Given the description of an element on the screen output the (x, y) to click on. 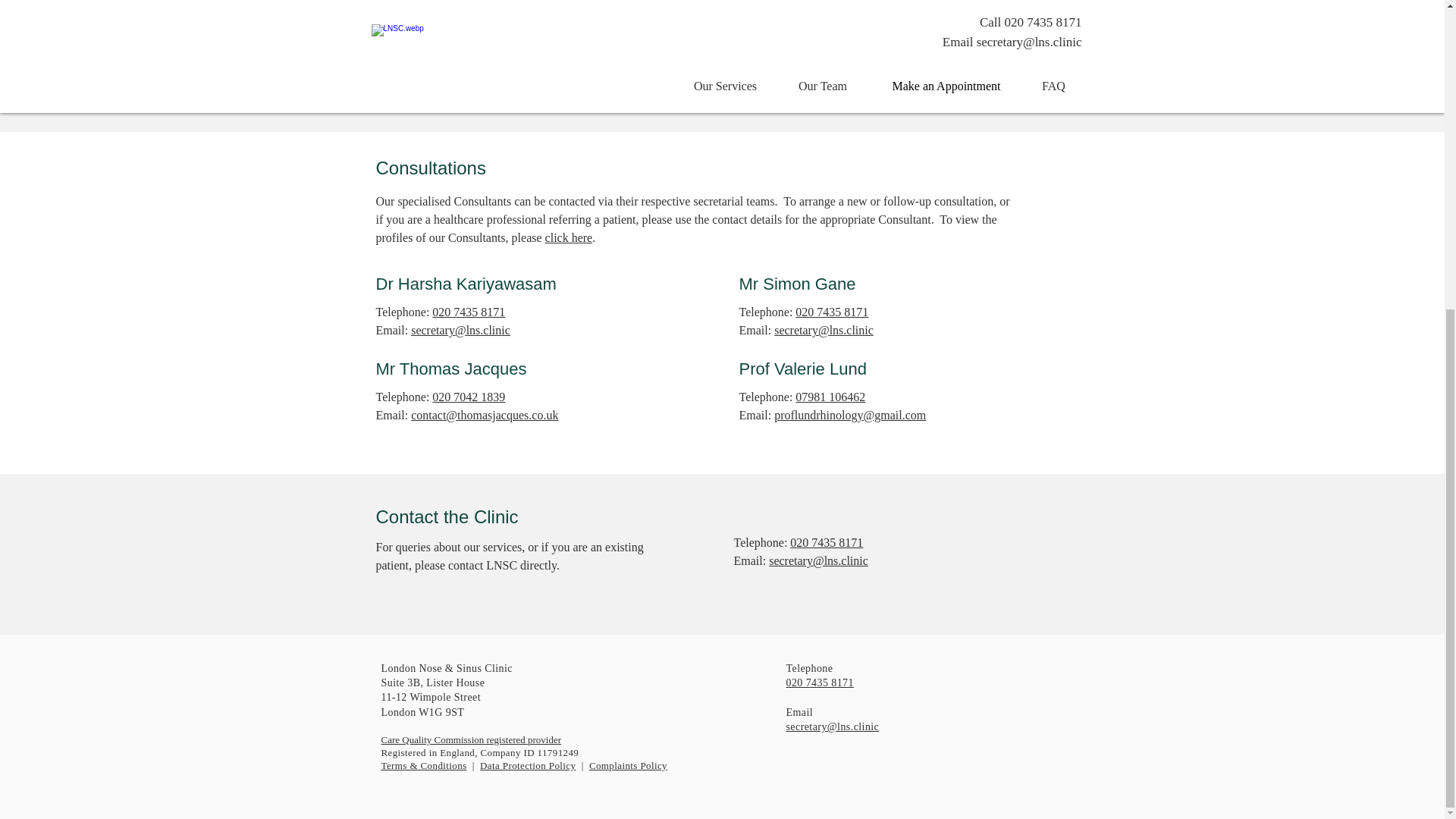
07981 106462 (829, 396)
Complaints Policy (627, 765)
click here (568, 237)
020 7435 8171 (819, 682)
020 7435 8171 (826, 542)
Care Quality Commission registered provider (470, 739)
020 7435 8171 (830, 311)
020 7435 8171 (468, 311)
020 7042 1839 (468, 396)
